Given the description of an element on the screen output the (x, y) to click on. 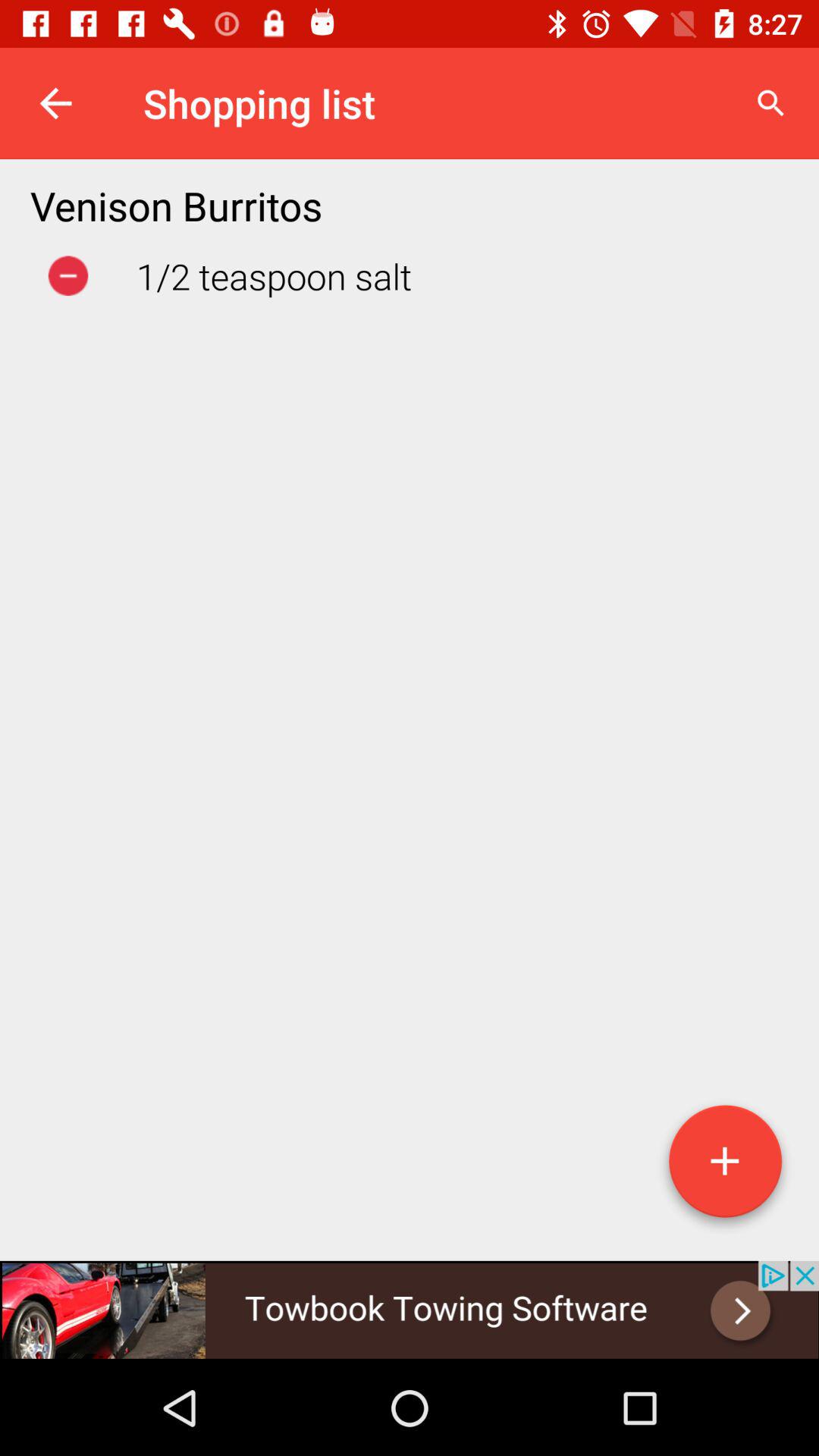
click on the add option at the bottom right of the page (725, 1167)
